Given the description of an element on the screen output the (x, y) to click on. 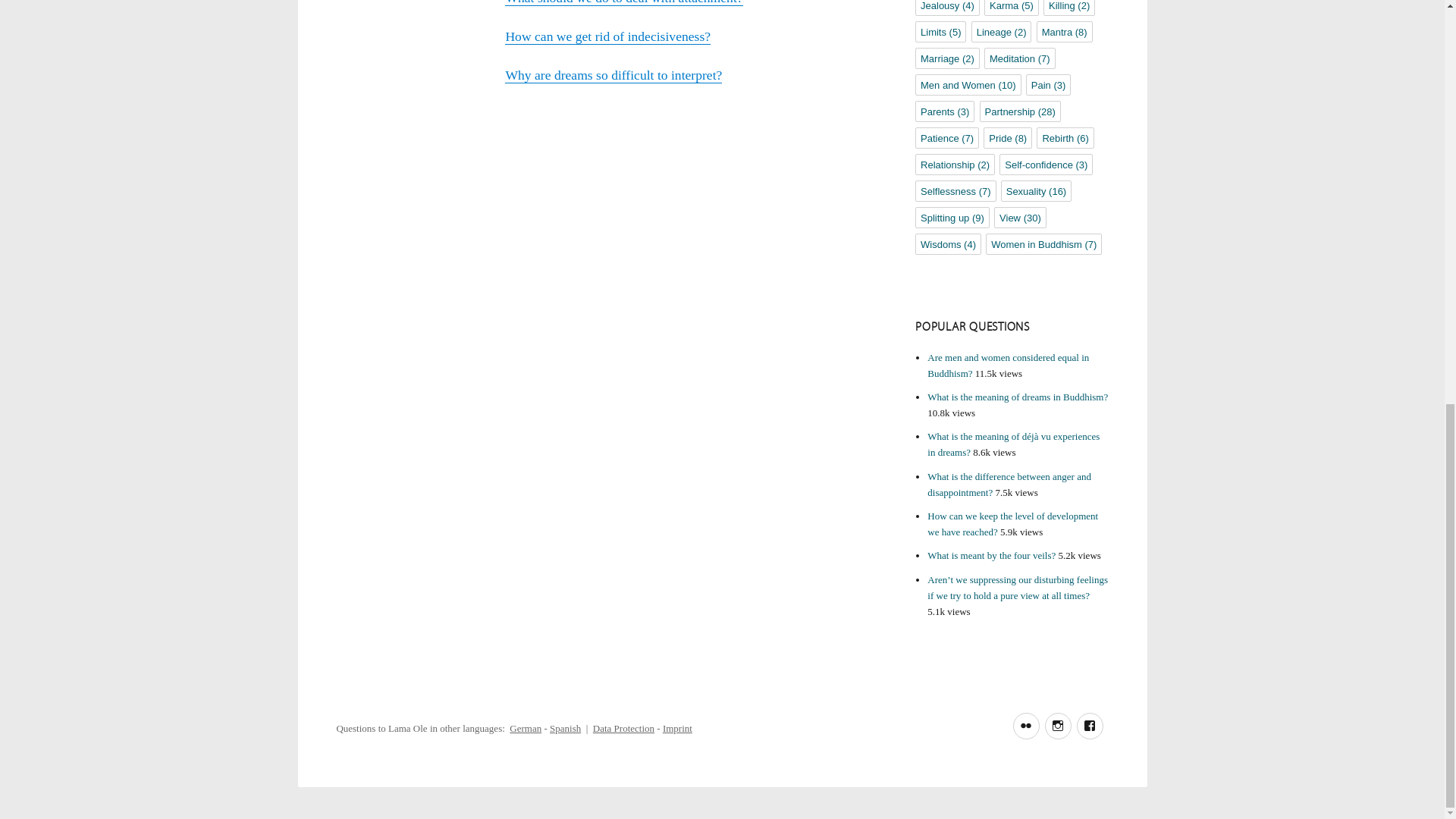
Why are dreams so difficult to interpret? (613, 74)
What should we do to deal with attachment? (623, 2)
How can we get rid of indecisiveness? (607, 36)
